Given the description of an element on the screen output the (x, y) to click on. 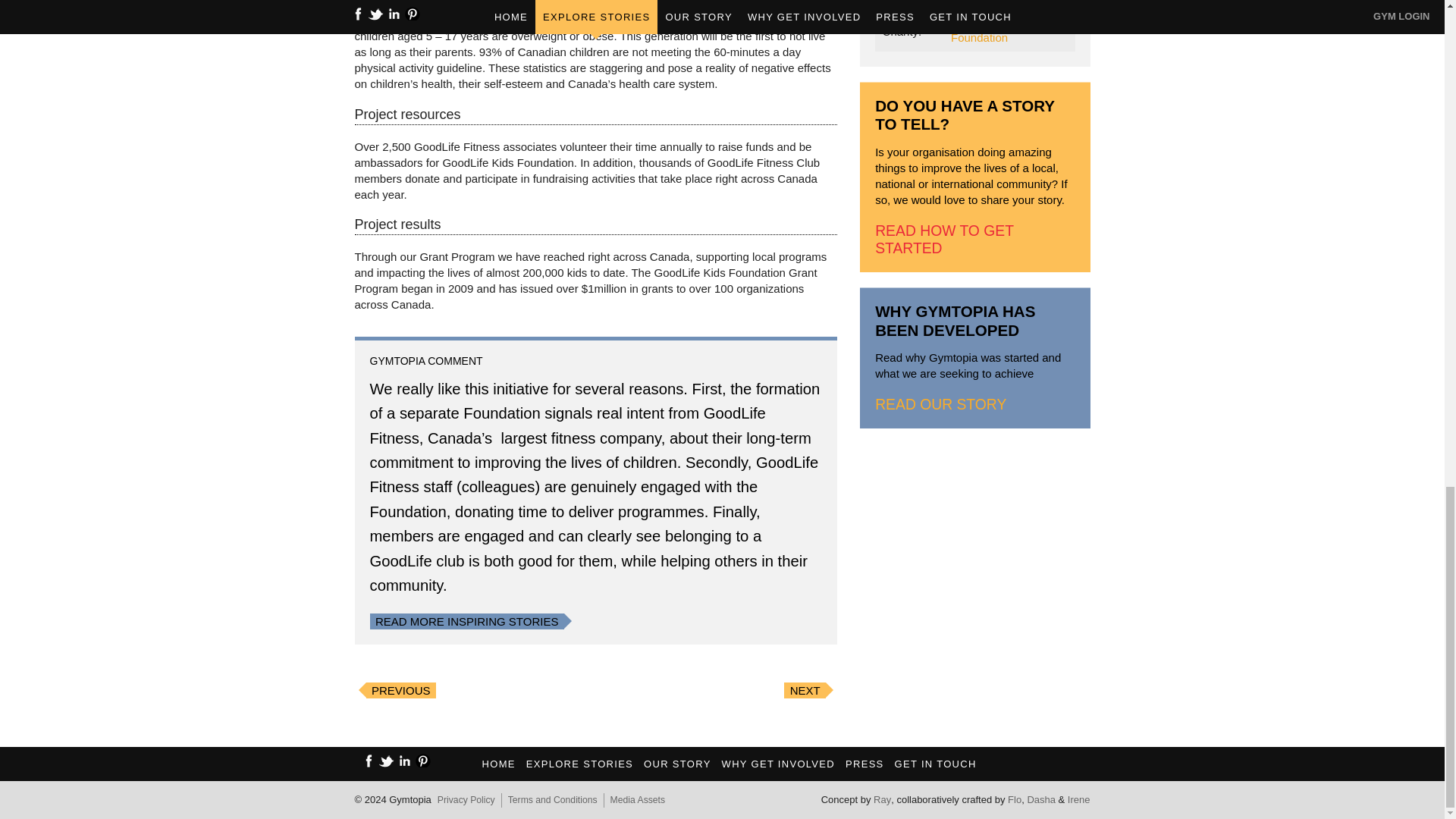
NEXT (805, 689)
dashaluna, WordPress developer Brighton, UK (1040, 799)
READ MORE INSPIRING STORIES (466, 621)
Irene Soler, web designer Brighton, UK (1078, 799)
PREVIOUS (400, 689)
Follow Gymtopia on Linkedin (404, 760)
Follow Gymtopia on Pinterest (422, 760)
Follow Gymtopia on Twitter (386, 760)
Follow Gymtopia on Facebook (368, 760)
